Given the description of an element on the screen output the (x, y) to click on. 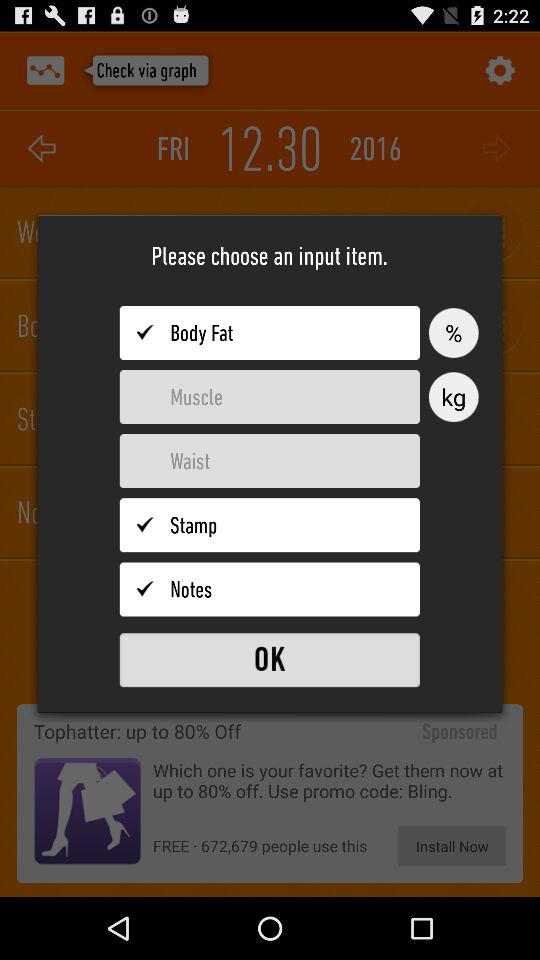
to send (269, 660)
